Given the description of an element on the screen output the (x, y) to click on. 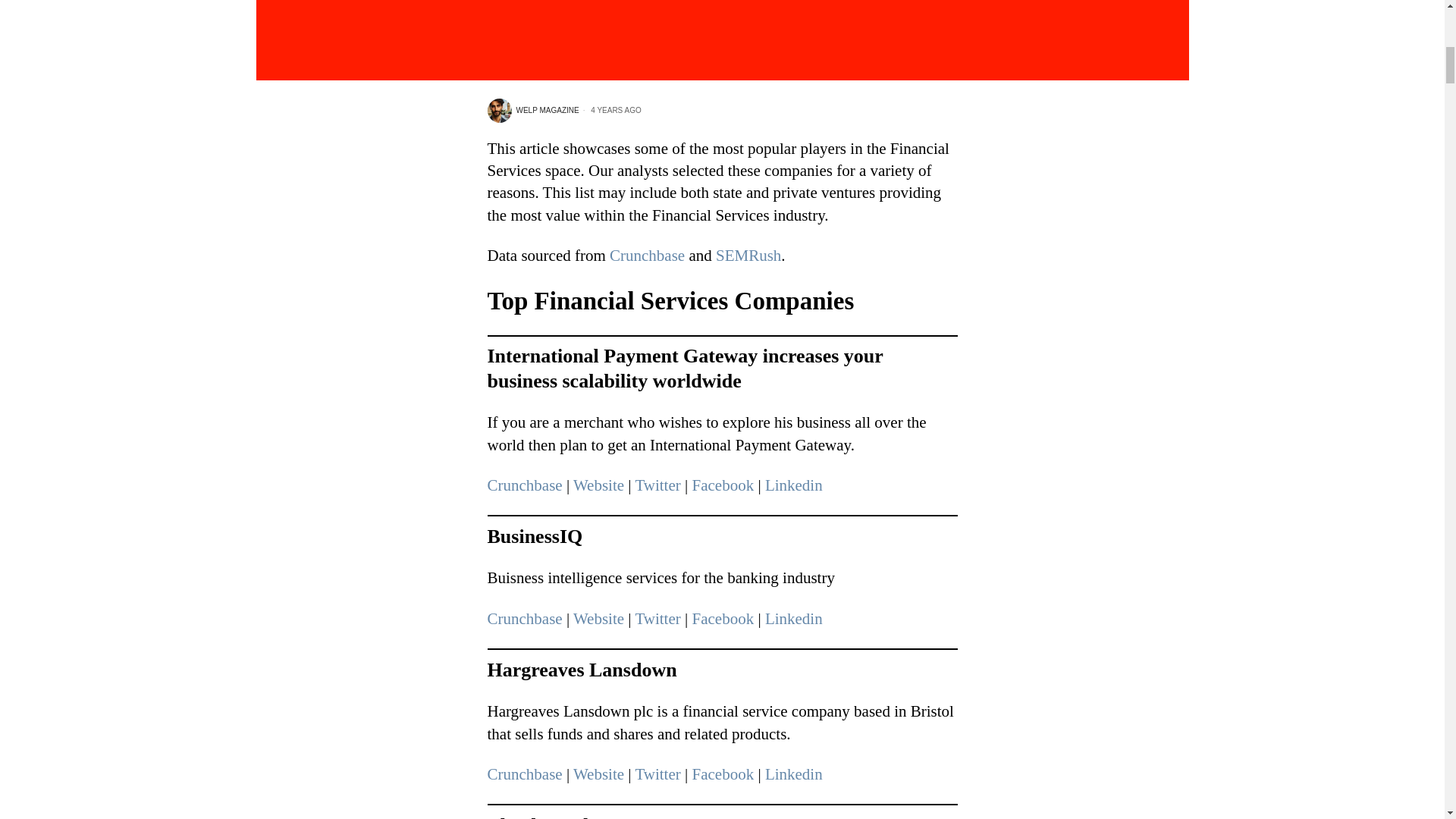
Crunchbase (647, 255)
SEMRush (748, 255)
07 Dec, 2020 14:17:54 (610, 110)
WELP MAGAZINE (532, 110)
